Given the description of an element on the screen output the (x, y) to click on. 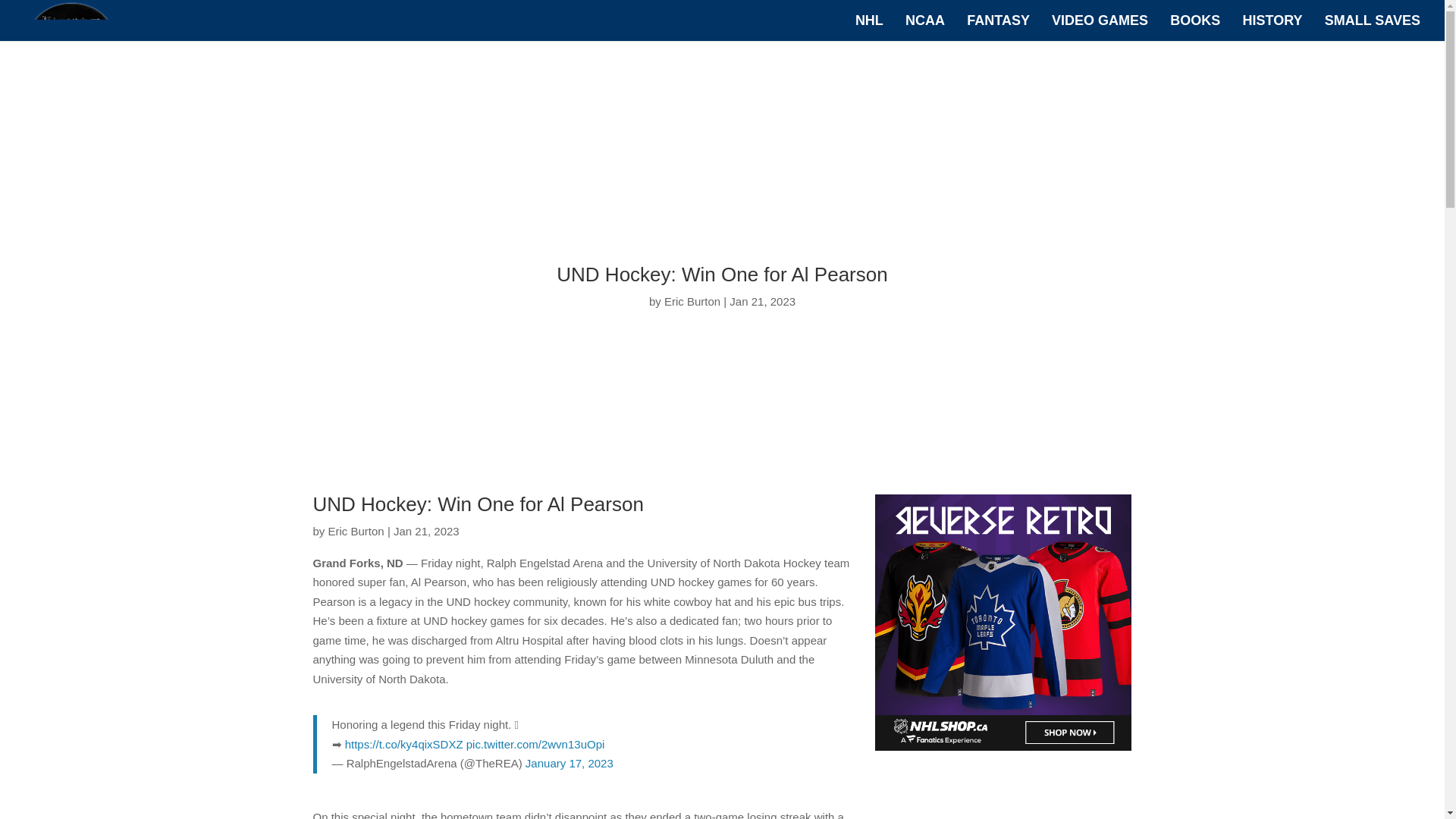
NCAA (924, 27)
FANTASY (997, 27)
HISTORY (1271, 27)
Posts by Eric Burton (356, 530)
Eric Burton (691, 300)
January 17, 2023 (568, 762)
SMALL SAVES (1372, 27)
Posts by Eric Burton (691, 300)
NHL (869, 27)
Eric Burton (356, 530)
BOOKS (1195, 27)
VIDEO GAMES (1099, 27)
